Given the description of an element on the screen output the (x, y) to click on. 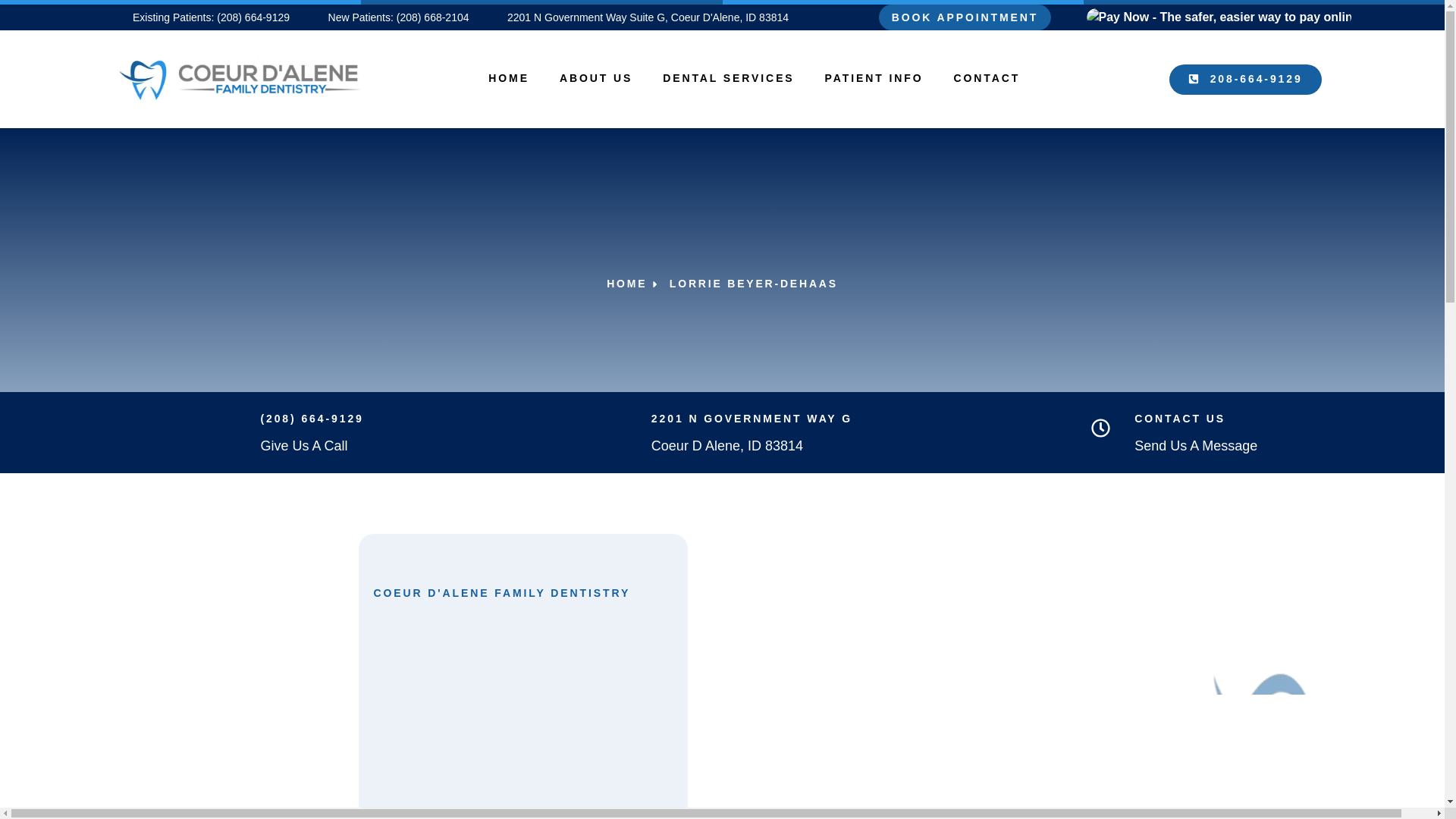
2201 N Government Way Suite G, Coeur D'Alene, ID 83814 (639, 17)
CONTACT (987, 77)
PATIENT INFO (874, 77)
ABOUT US (595, 77)
BOOK APPOINTMENT (965, 17)
HOME (508, 77)
DENTAL SERVICES (728, 77)
